Given the description of an element on the screen output the (x, y) to click on. 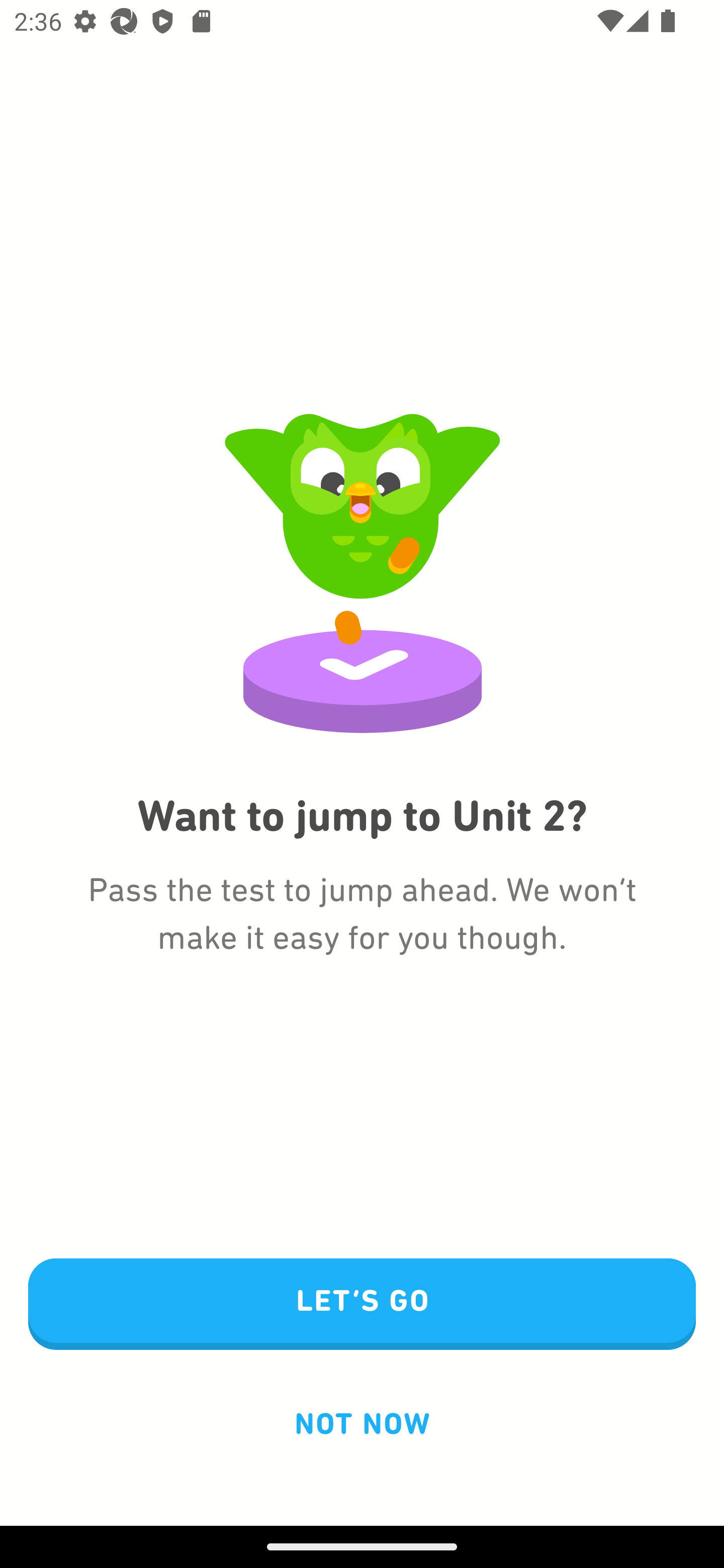
LET’S GO (361, 1304)
NOT NOW (361, 1423)
